Given the description of an element on the screen output the (x, y) to click on. 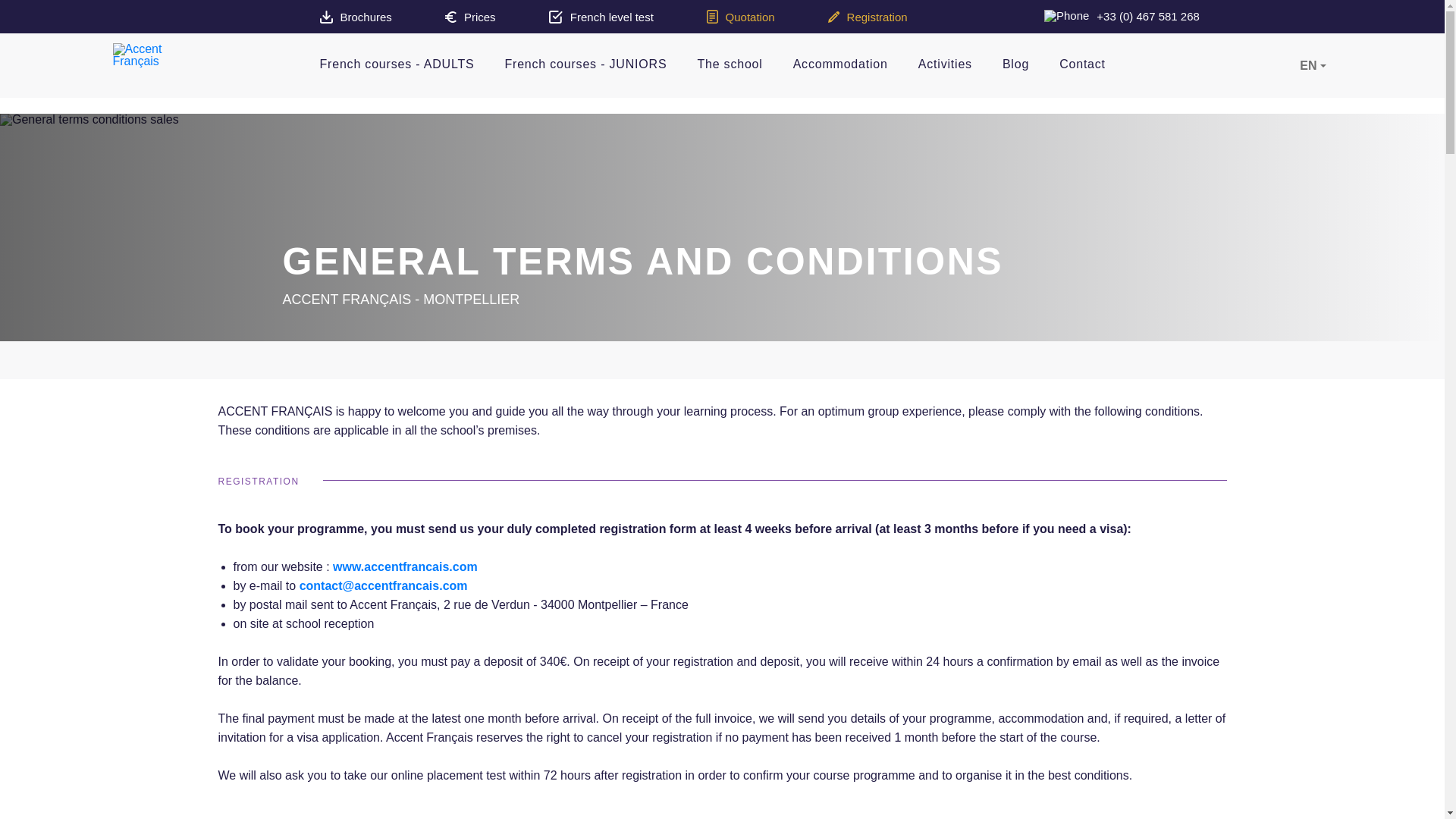
French level test (600, 16)
Quotation (740, 16)
Brochures (355, 16)
Prices (470, 16)
Registration (867, 16)
French courses - ADULTS (397, 65)
